Given the description of an element on the screen output the (x, y) to click on. 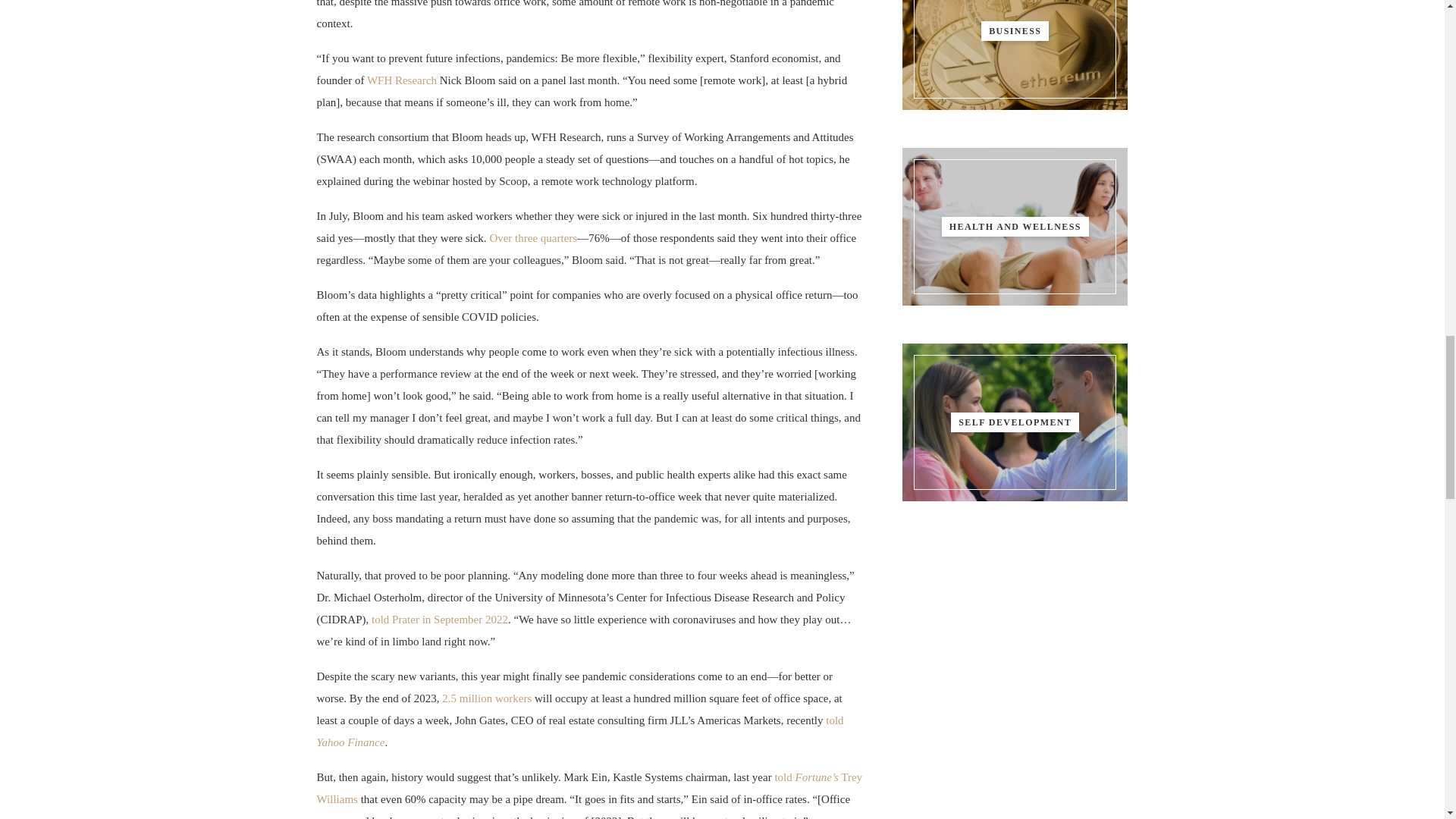
Over three quarters (532, 237)
2.5 million workers (486, 698)
told Prater in September 2022 (439, 619)
WFH Research (401, 80)
told Yahoo Finance (580, 731)
